Given the description of an element on the screen output the (x, y) to click on. 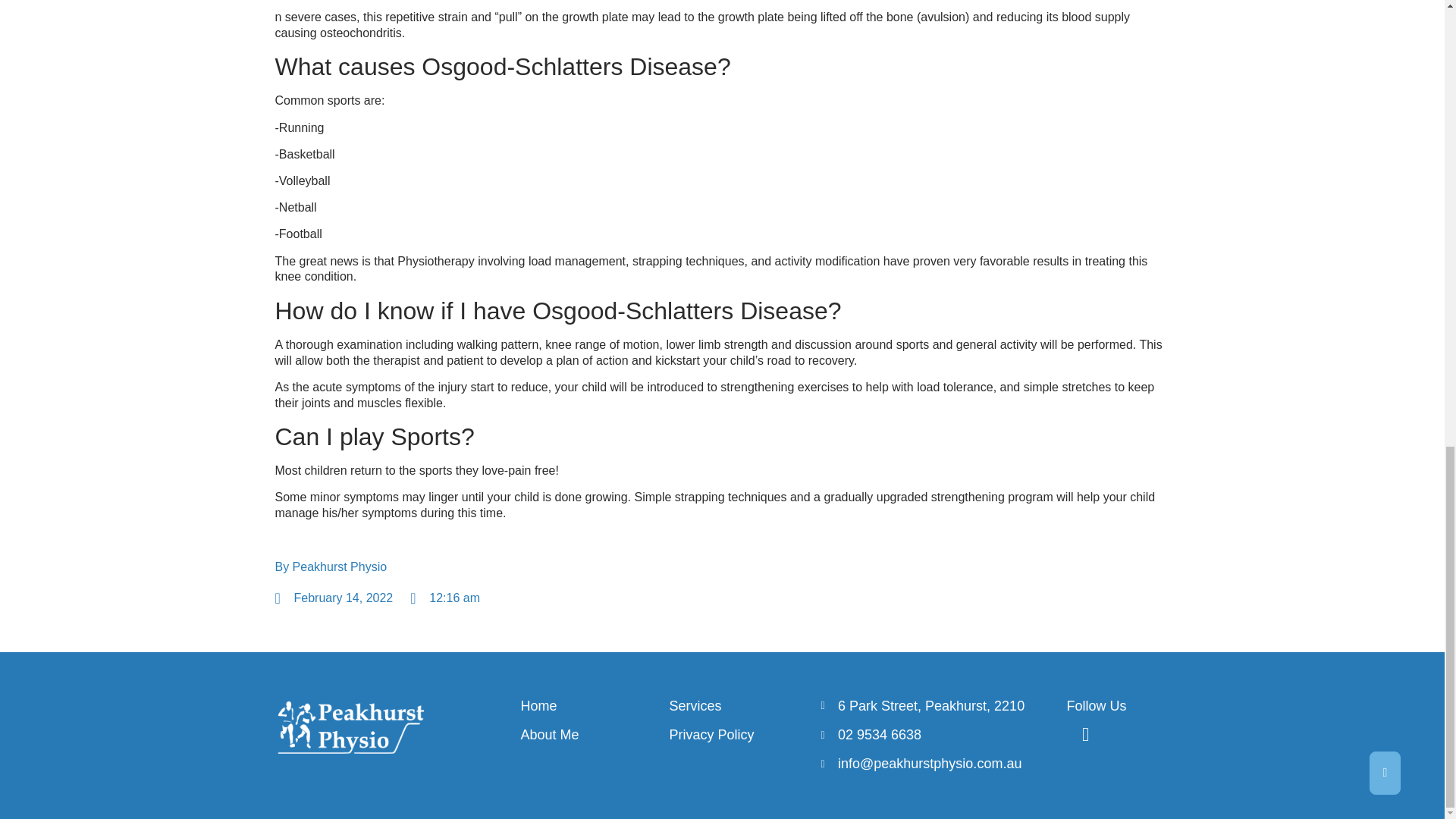
Home (587, 705)
February 14, 2022 (334, 598)
Services (736, 705)
02 9534 6638 (936, 734)
Privacy Policy (736, 734)
About Me (587, 734)
